Given the description of an element on the screen output the (x, y) to click on. 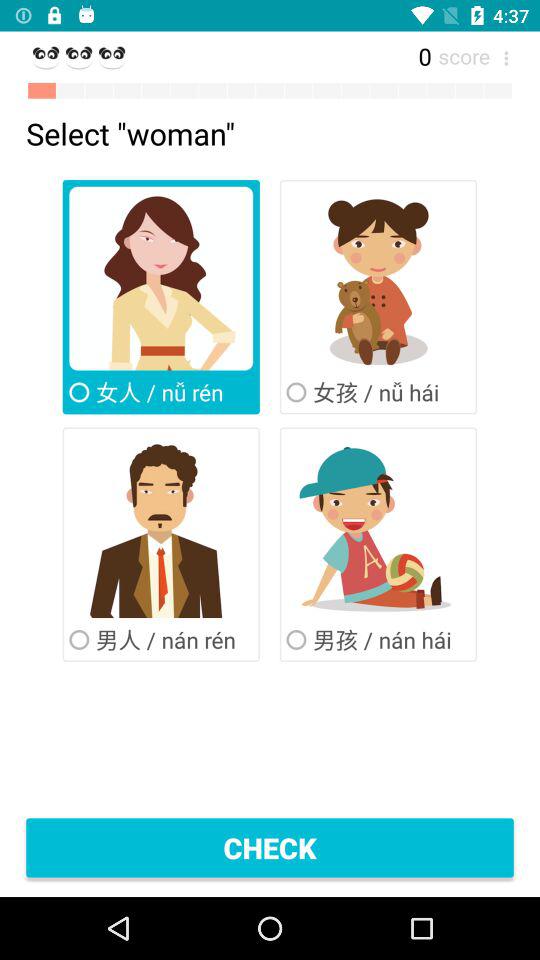
tap the check icon (269, 847)
